Given the description of an element on the screen output the (x, y) to click on. 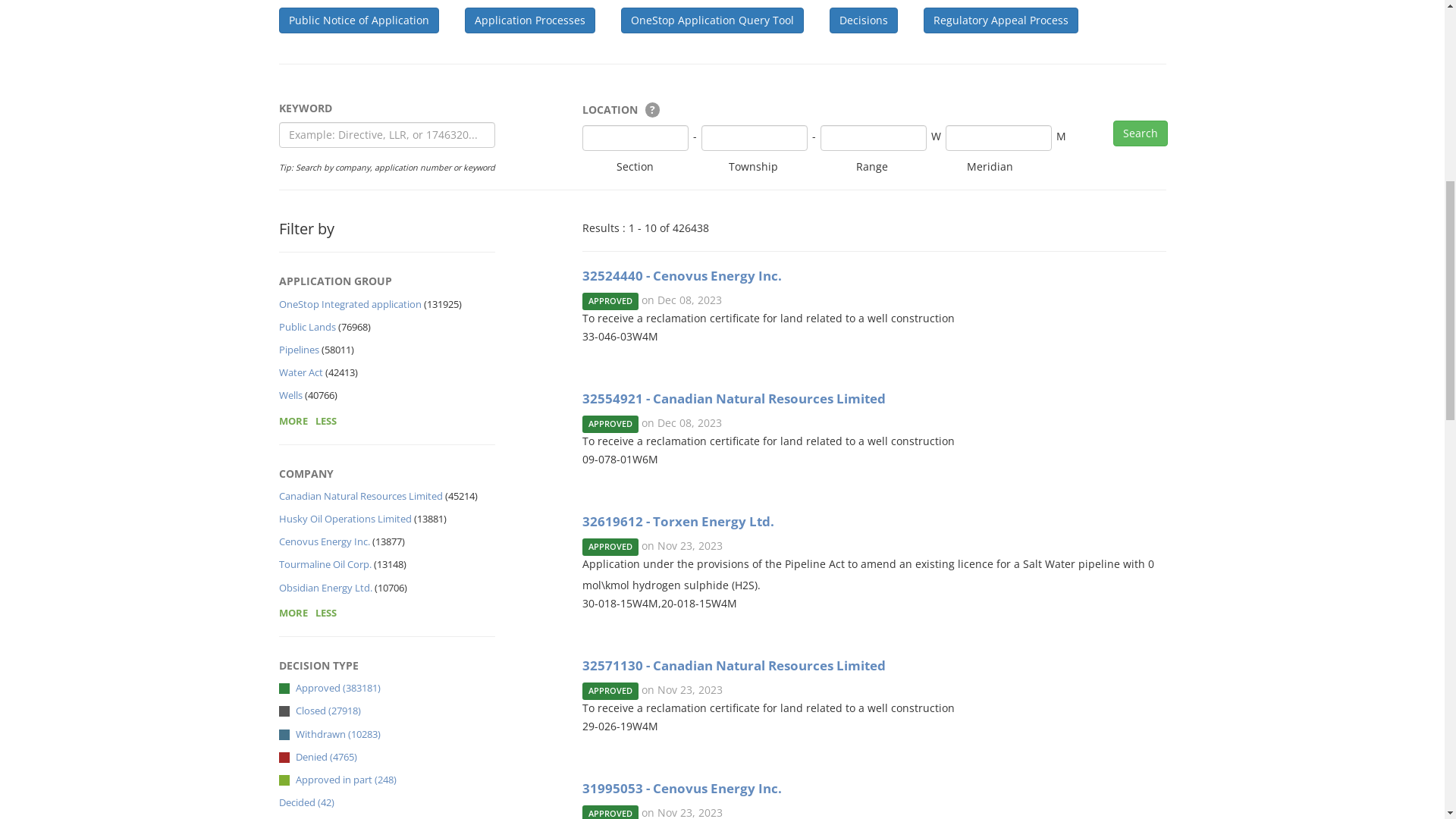
REGULATING DEVELOPMENT Element type: text (896, 76)
Forms Element type: text (890, 22)
PROTECTING WHAT MATTERS Element type: text (708, 76)
Contact Us Element type: text (1042, 22)
Regulatory Appeal Process Element type: text (1000, 604)
Search Element type: text (1116, 22)
Application Processes Element type: text (529, 604)
Share Element type: text (1073, 329)
Decisions Element type: text (1072, 455)
PROVIDING INFORMATION Element type: text (1078, 76)
Search Element type: text (1140, 717)
Public Notice of Application Element type: text (359, 604)
project applications Element type: text (467, 390)
Decisions Element type: text (863, 604)
Careers Element type: text (961, 22)
Systems & Tools Element type: text (798, 22)
Public Notice of Application Element type: text (735, 455)
OneStop Application Query Tool Element type: text (711, 604)
Learn more Element type: text (349, 521)
? Element type: text (651, 693)
Print Element type: text (1141, 330)
